Given the description of an element on the screen output the (x, y) to click on. 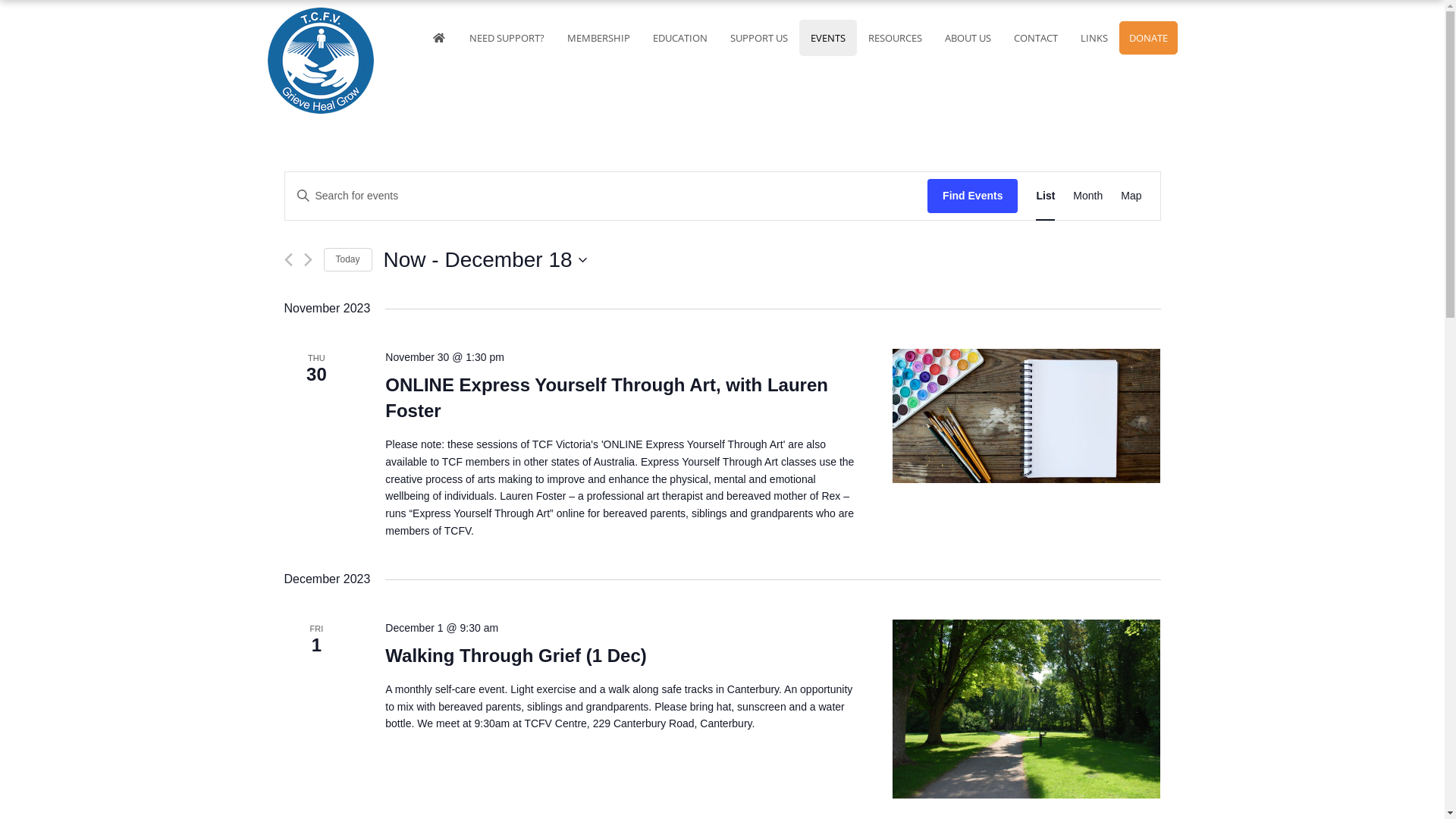
Find Events Element type: text (972, 195)
DONATE Element type: text (1148, 37)
List Element type: text (1044, 195)
MEMBERSHIP Element type: text (597, 37)
ONLINE Express Yourself Through Art, with Lauren Foster Element type: hover (1026, 415)
CONTACT Element type: text (1035, 37)
Today Element type: text (347, 259)
Walking Through Grief (1 Dec) Element type: text (515, 655)
Previous Events Element type: hover (287, 259)
LINKS Element type: text (1094, 37)
Walking Through Grief (1 Dec) Element type: hover (1026, 708)
ONLINE Express Yourself Through Art, with Lauren Foster Element type: text (606, 397)
Now
 - 
December 18 Element type: text (484, 259)
Map Element type: text (1130, 195)
Month Element type: text (1087, 195)
Next Events Element type: hover (307, 259)
